Given the description of an element on the screen output the (x, y) to click on. 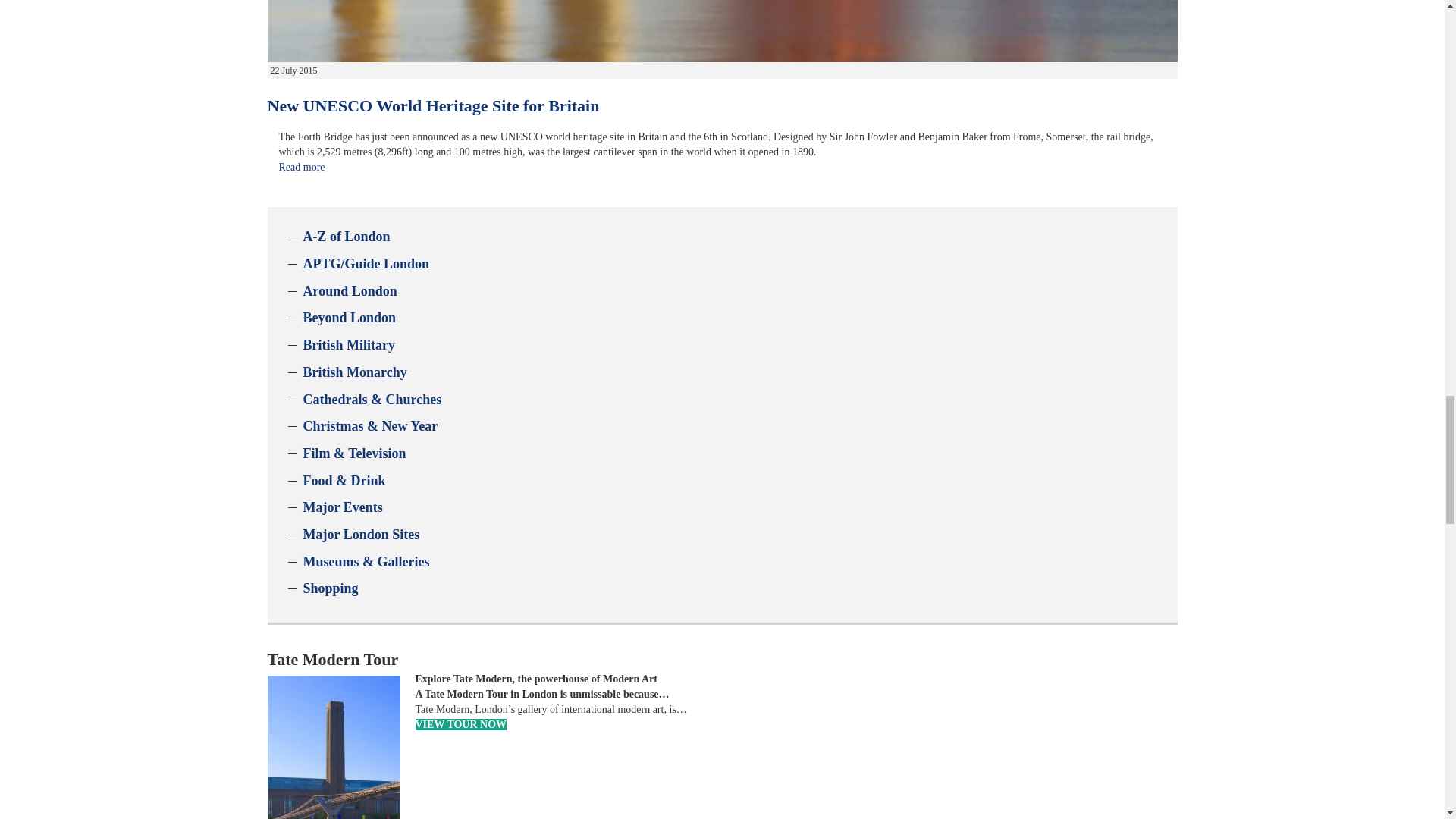
View all posts in Shopping (330, 588)
Major Events (342, 507)
Read more (301, 166)
View all posts in Around London (349, 290)
View all posts in A-Z of London (346, 236)
Shopping (330, 588)
Around London (349, 290)
View all posts in British Military (348, 344)
New UNESCO World Heritage Site for Britain (432, 105)
Beyond London (349, 317)
Major London Sites (361, 534)
View all posts in Major Events (342, 507)
View all posts in Beyond London (349, 317)
View all posts in British Monarchy (354, 372)
A-Z of London (346, 236)
